Given the description of an element on the screen output the (x, y) to click on. 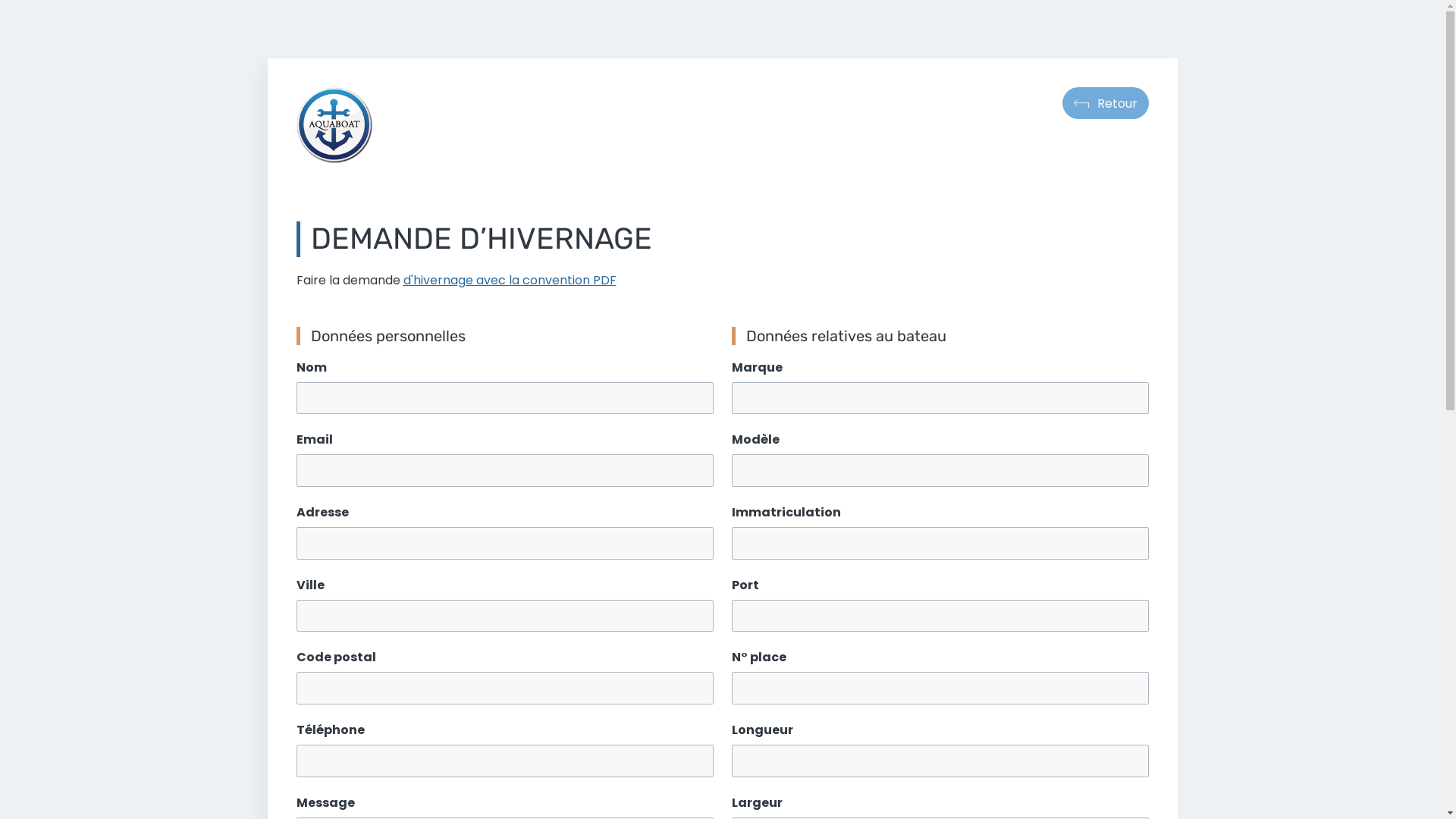
d'hivernage avec la convention PDF Element type: text (509, 279)
25/11/2023 03:41:14 Element type: hover (333, 125)
Retour Element type: text (1104, 103)
